Given the description of an element on the screen output the (x, y) to click on. 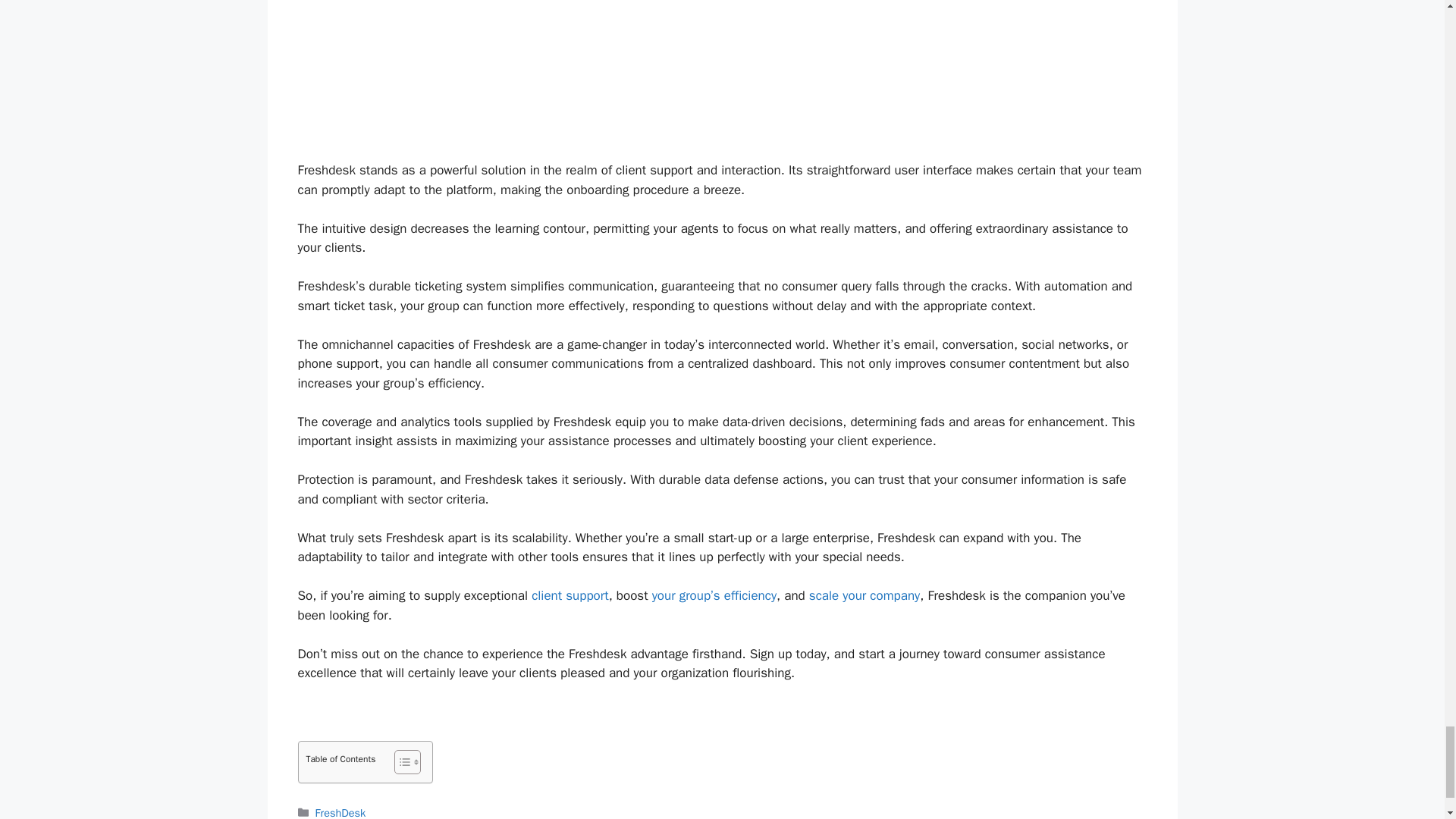
FreshDesk (340, 812)
scale your company (864, 595)
client support (569, 595)
